Given the description of an element on the screen output the (x, y) to click on. 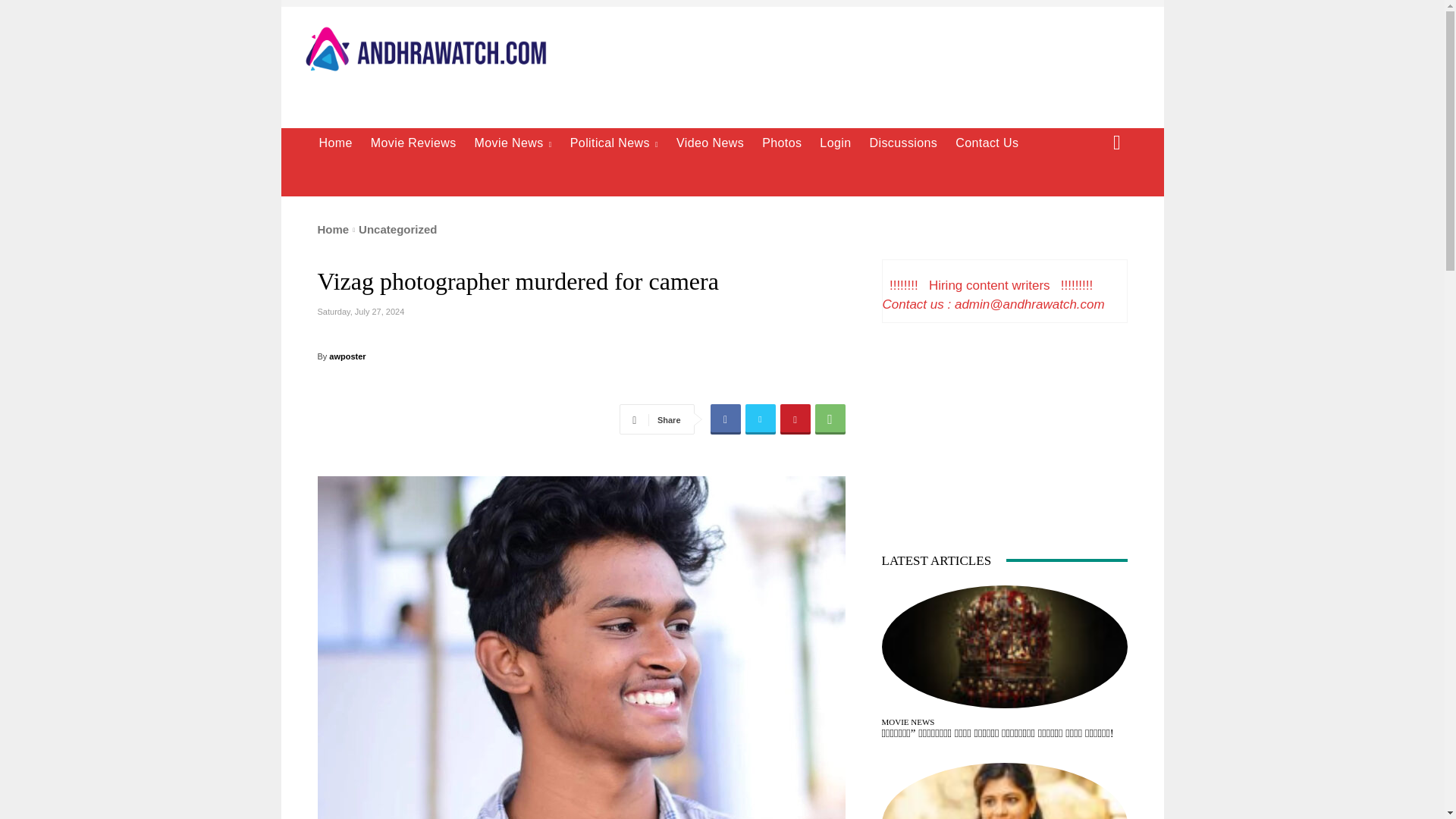
Contact Us (986, 142)
Pinterest (793, 419)
Advertisement (849, 65)
Discussions (903, 142)
awposter (347, 355)
WhatsApp (828, 419)
Facebook (724, 419)
Photos (781, 142)
Uncategorized (397, 228)
Login (835, 142)
Movie Reviews (413, 142)
Home (334, 142)
Twitter (759, 419)
Home (333, 228)
Video News (709, 142)
